Given the description of an element on the screen output the (x, y) to click on. 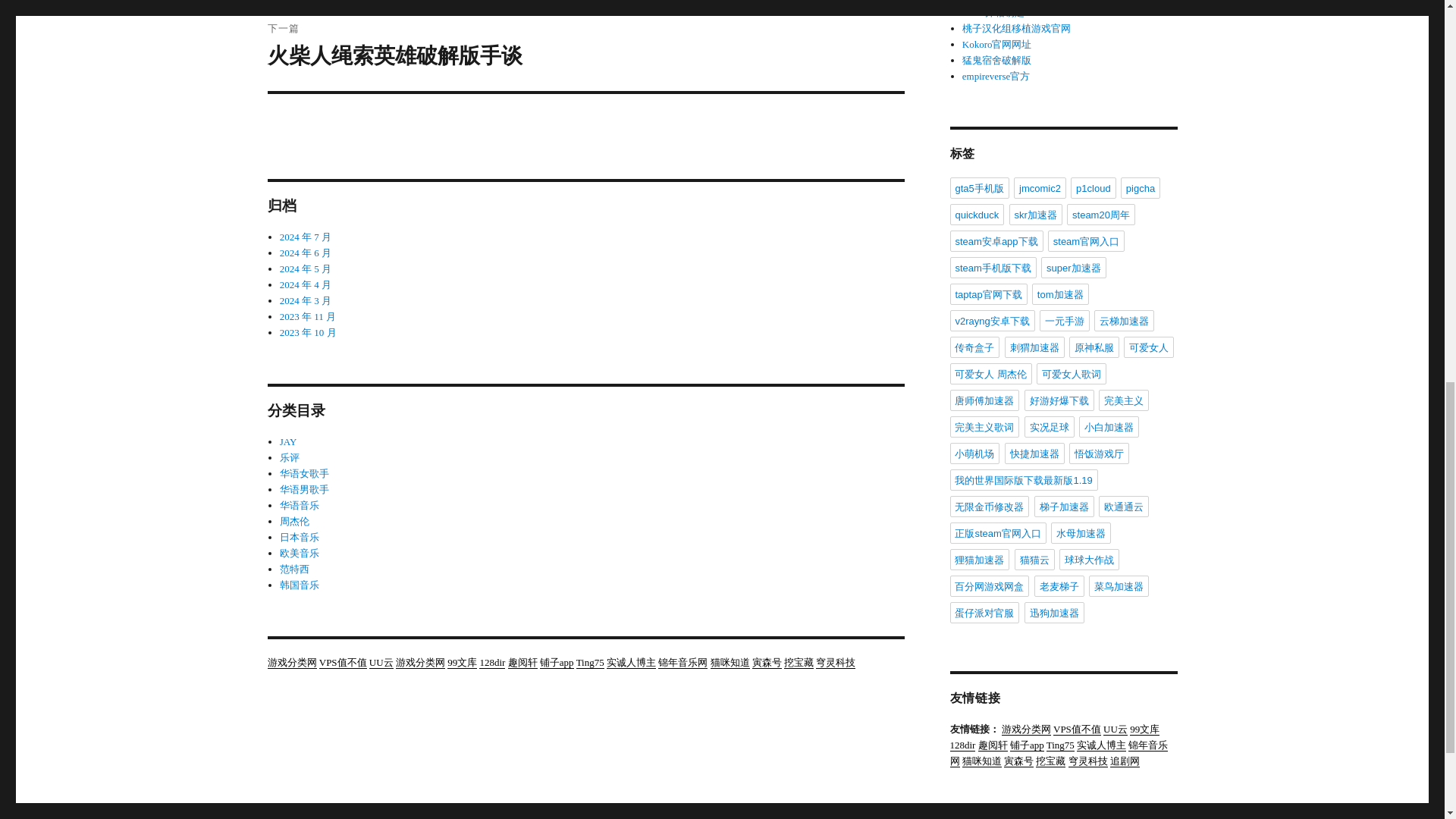
128dir (492, 662)
Ting75 (590, 662)
JAY (288, 441)
